Given the description of an element on the screen output the (x, y) to click on. 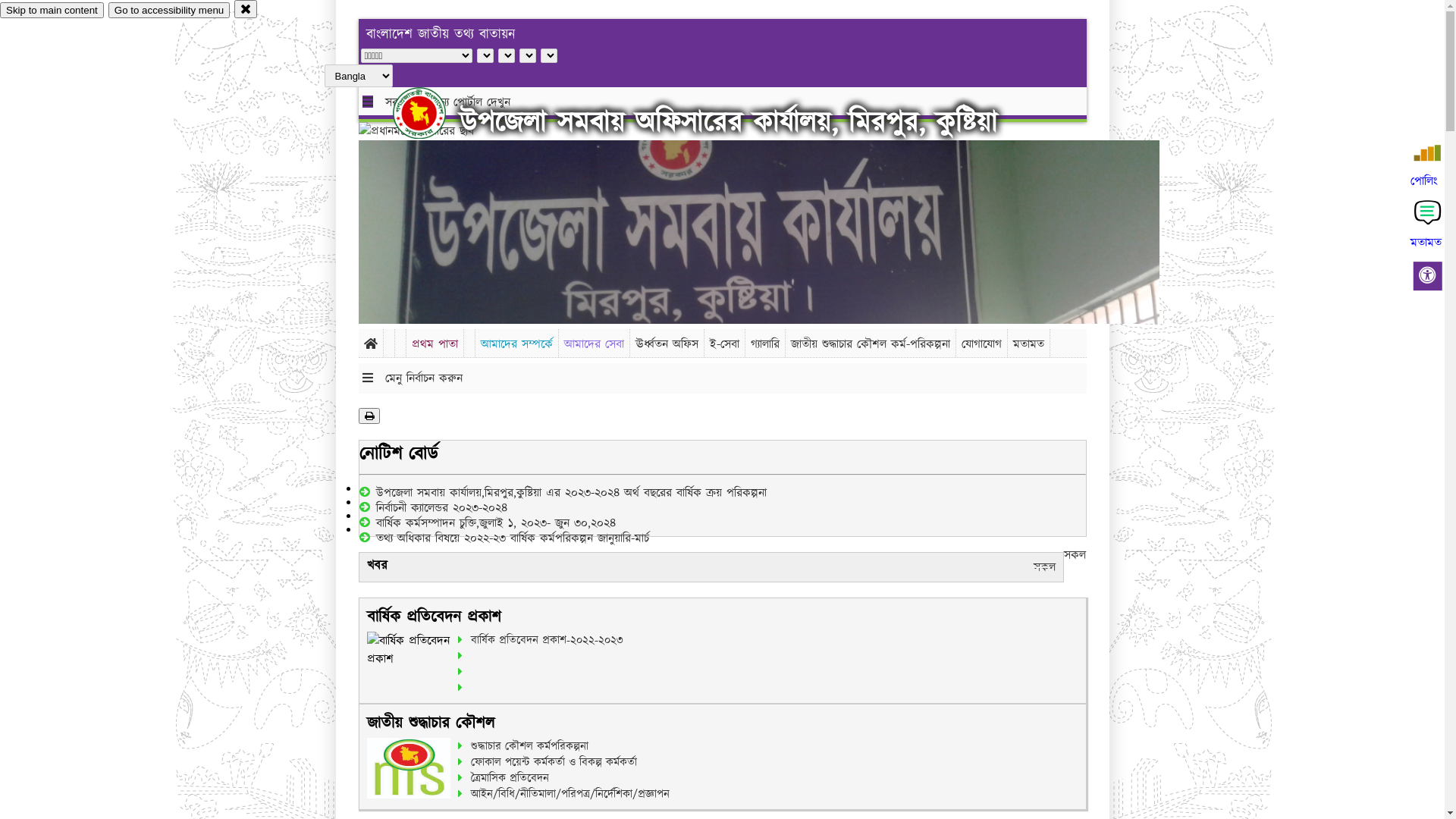
Go to accessibility menu Element type: text (168, 10)
close Element type: hover (245, 9)

                
             Element type: hover (431, 112)
Skip to main content Element type: text (51, 10)
